Given the description of an element on the screen output the (x, y) to click on. 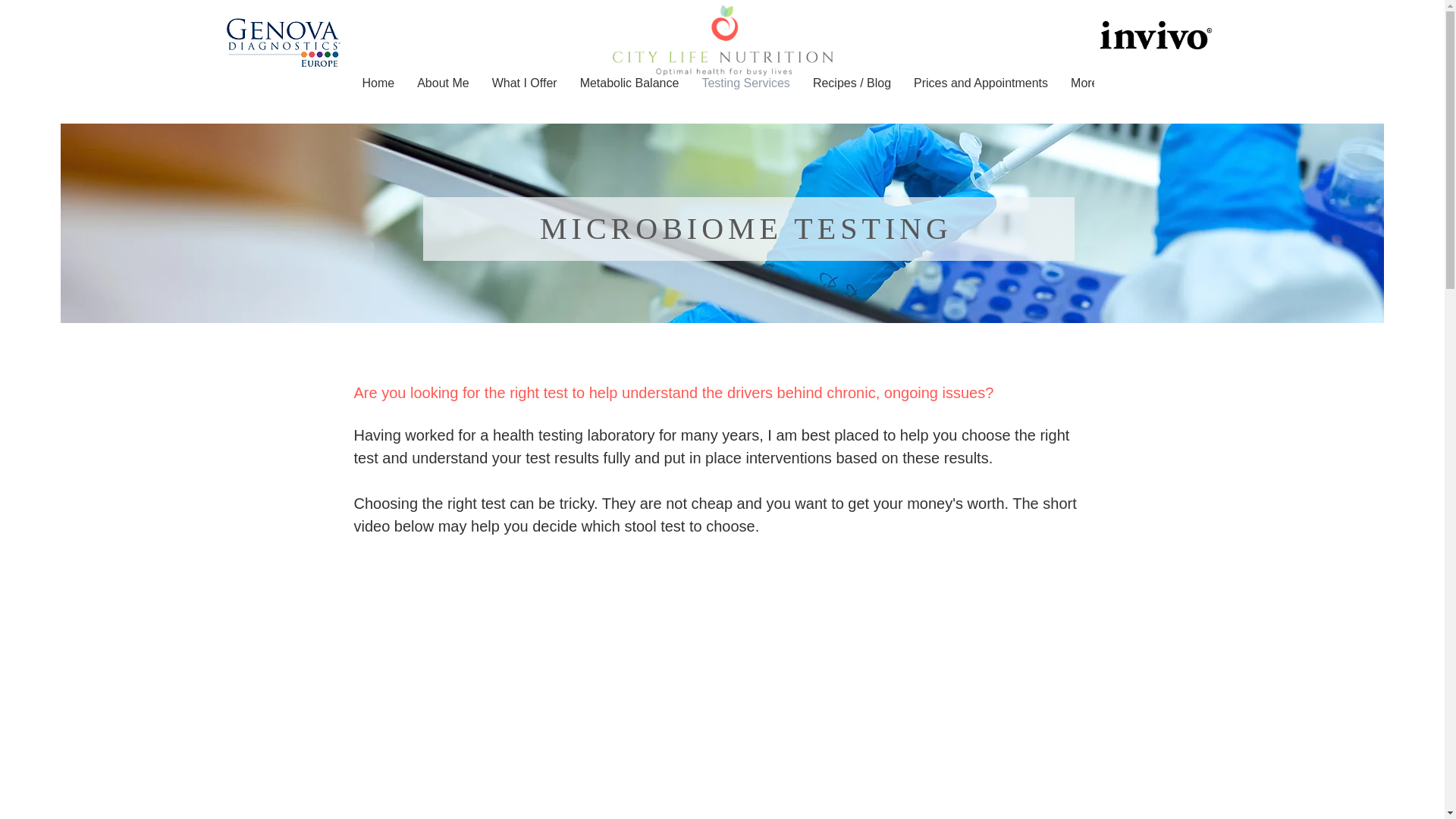
About Me (443, 94)
Testing Services (746, 94)
What I Offer (524, 94)
Metabolic Balance (629, 94)
Home (378, 94)
Prices and Appointments (980, 94)
